Given the description of an element on the screen output the (x, y) to click on. 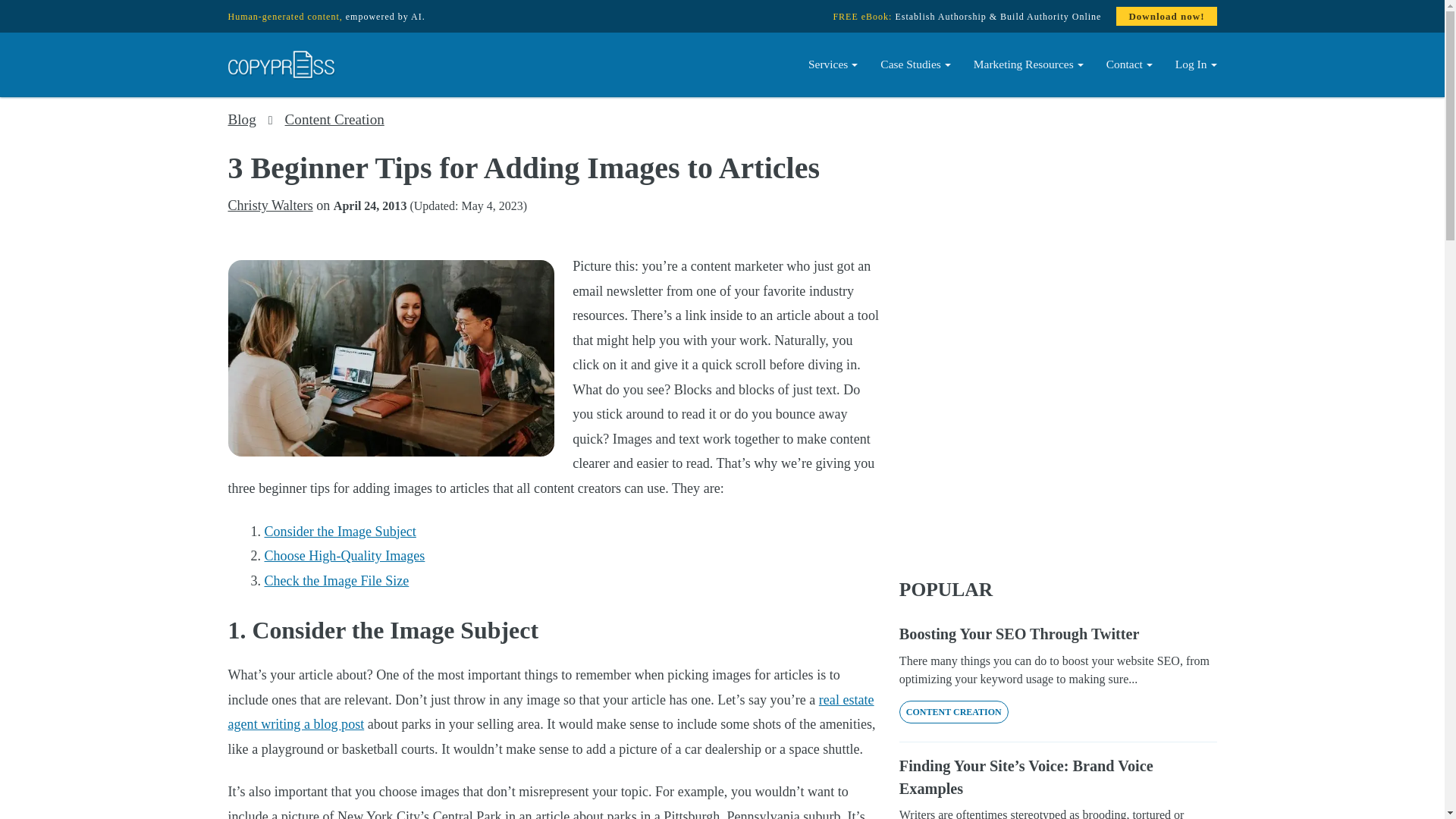
Choose High-Quality Images (344, 555)
Content Creation (334, 119)
Download now! (1165, 16)
Case Studies (915, 64)
Blog (241, 119)
Services (832, 64)
Contact (1128, 64)
real estate agent writing a blog post (550, 712)
Check the Image File Size (336, 580)
Christy Walters (270, 205)
